Given the description of an element on the screen output the (x, y) to click on. 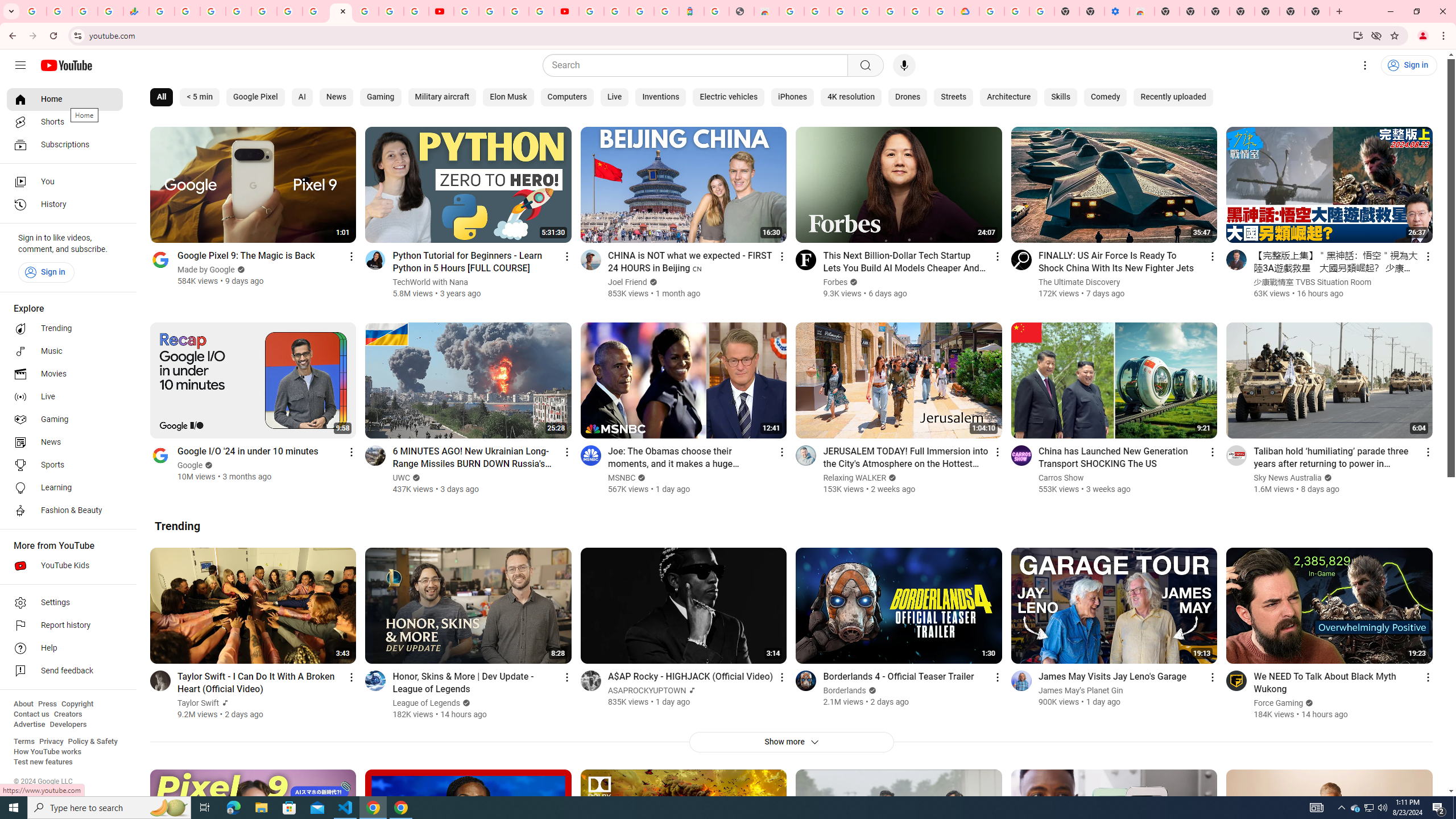
Ad Settings (816, 11)
Comedy (1104, 97)
4K resolution (850, 97)
Live (64, 396)
Sign in - Google Accounts (916, 11)
Guide (20, 65)
Skills (1060, 97)
YouTube (340, 11)
